Given the description of an element on the screen output the (x, y) to click on. 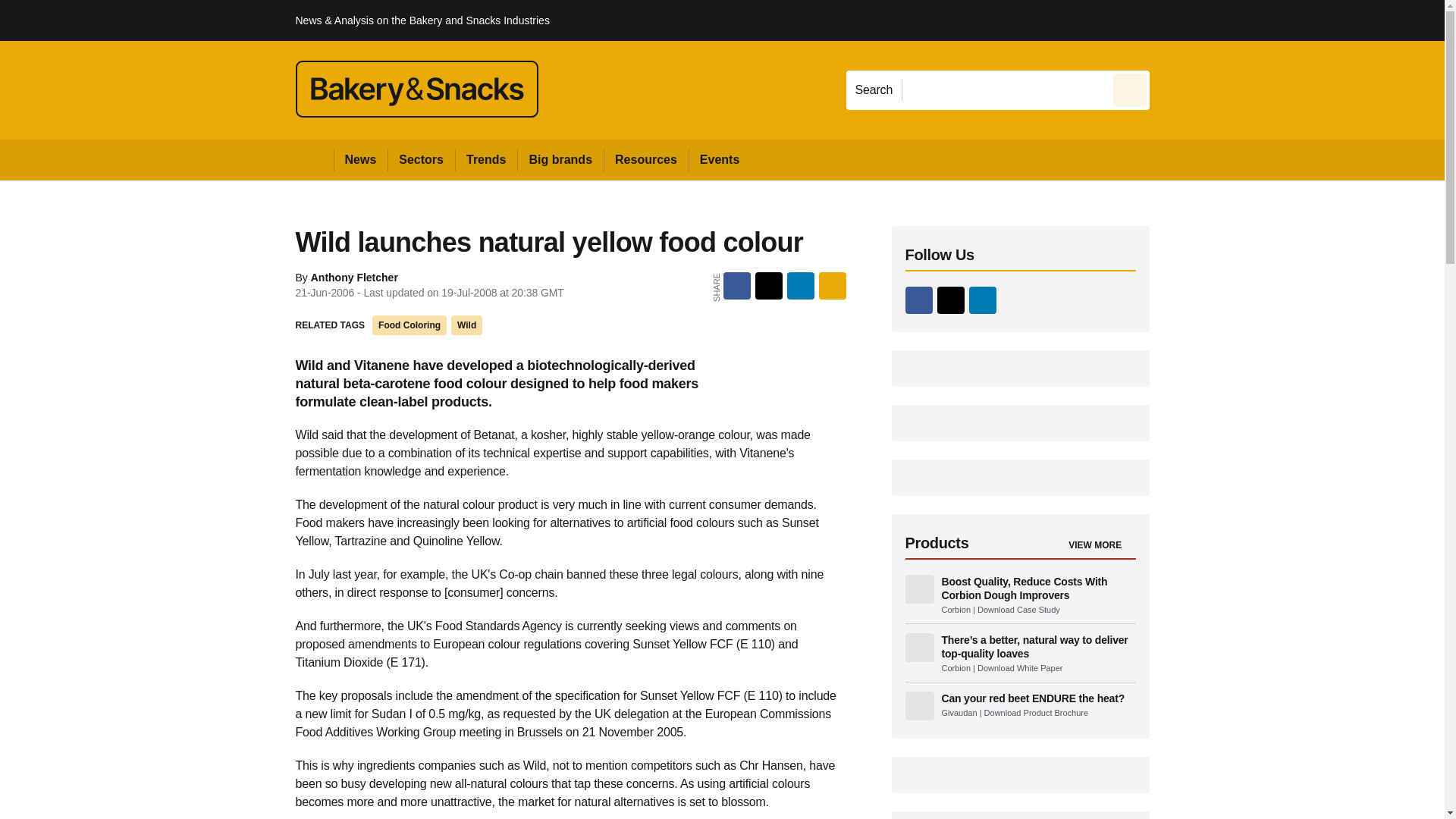
Send (1129, 89)
News (360, 159)
My account (1256, 20)
Send (1129, 90)
Sectors (420, 159)
Sign out (1174, 20)
Home (313, 159)
Sign in (1171, 20)
Home (314, 159)
REGISTER (1250, 20)
